Given the description of an element on the screen output the (x, y) to click on. 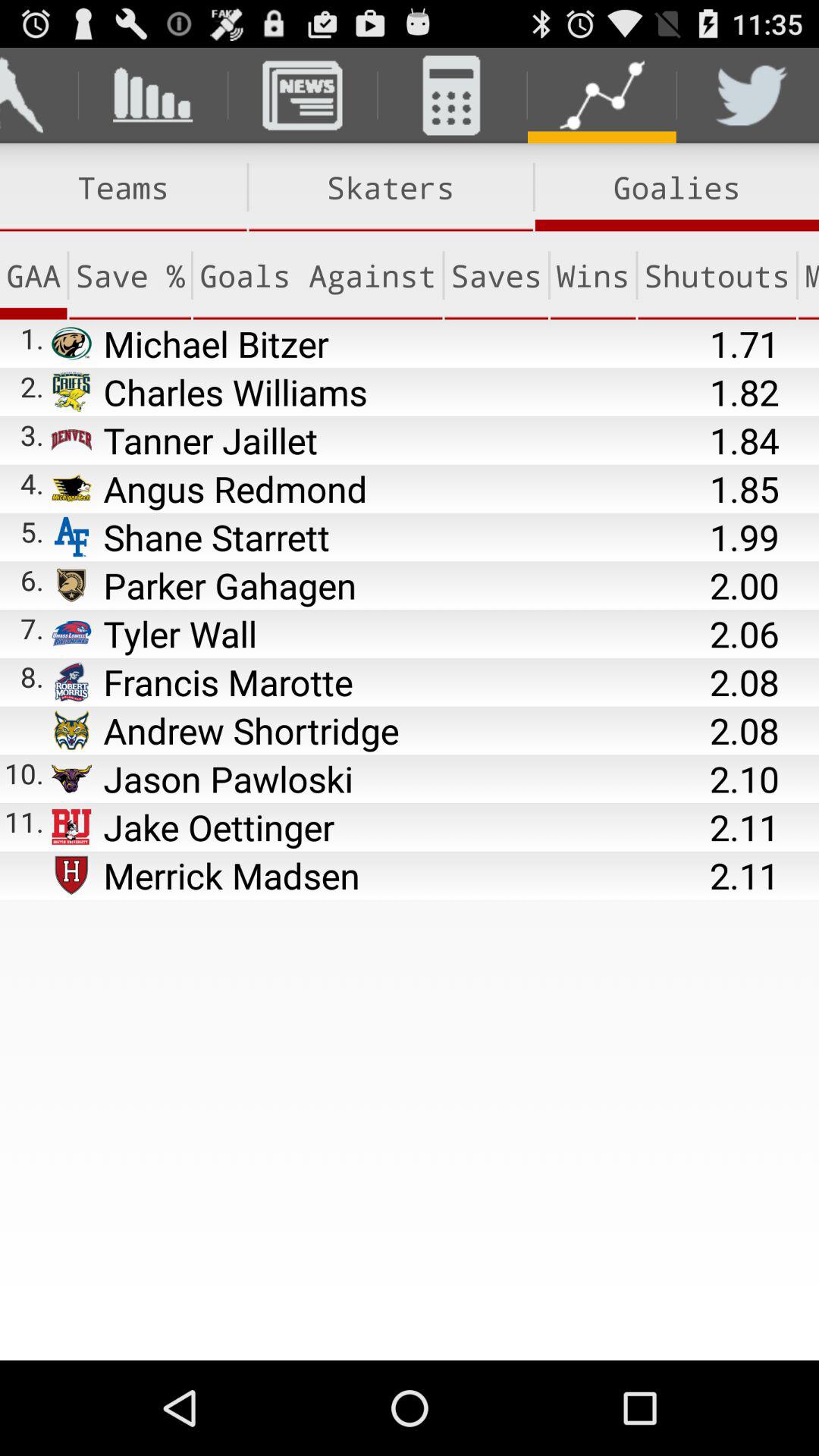
swipe until the gaa item (33, 275)
